Given the description of an element on the screen output the (x, y) to click on. 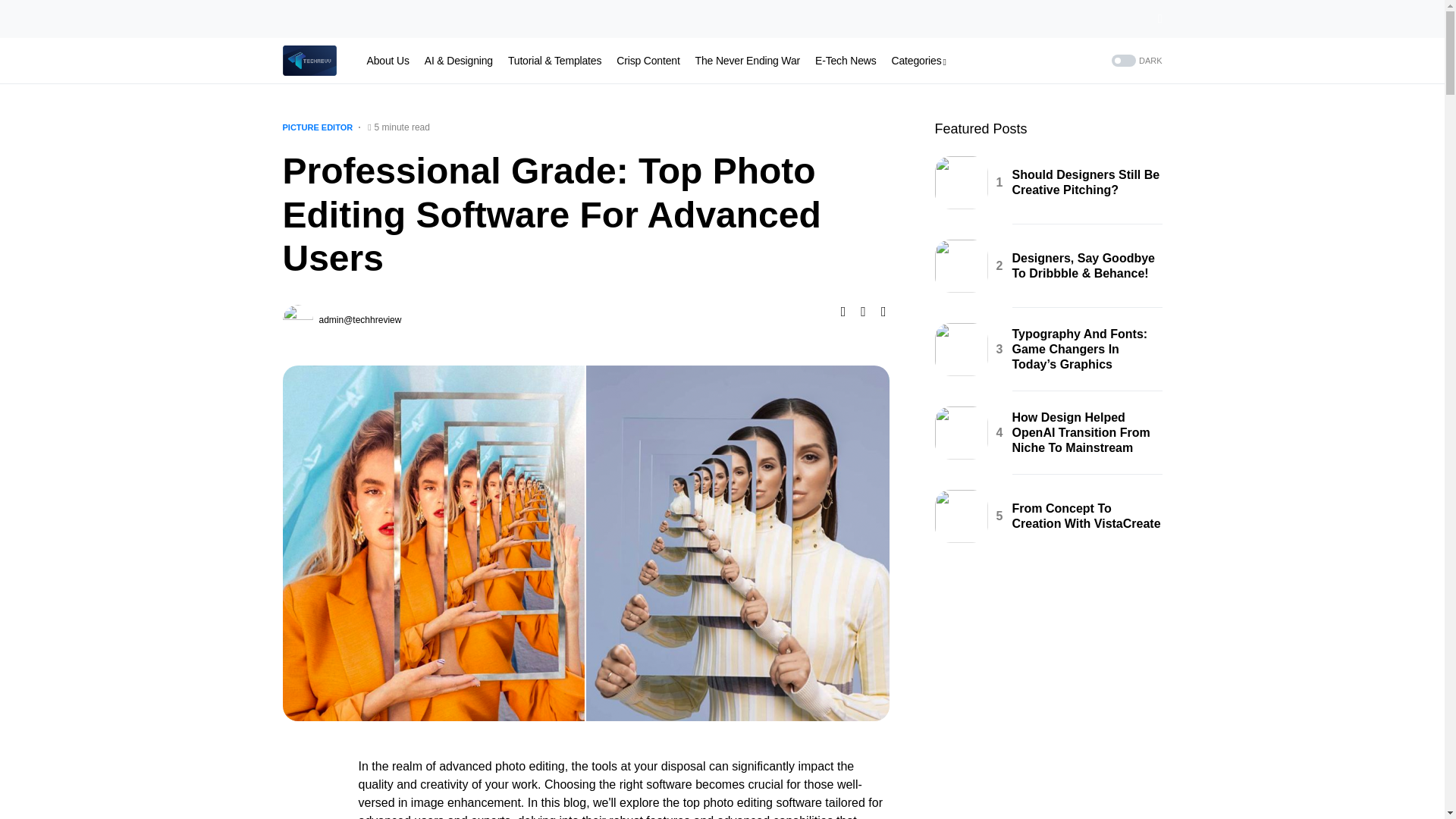
E-Tech News (845, 60)
Crisp Content (647, 60)
About Us (387, 60)
Categories (918, 60)
The Never Ending War (747, 60)
